Given the description of an element on the screen output the (x, y) to click on. 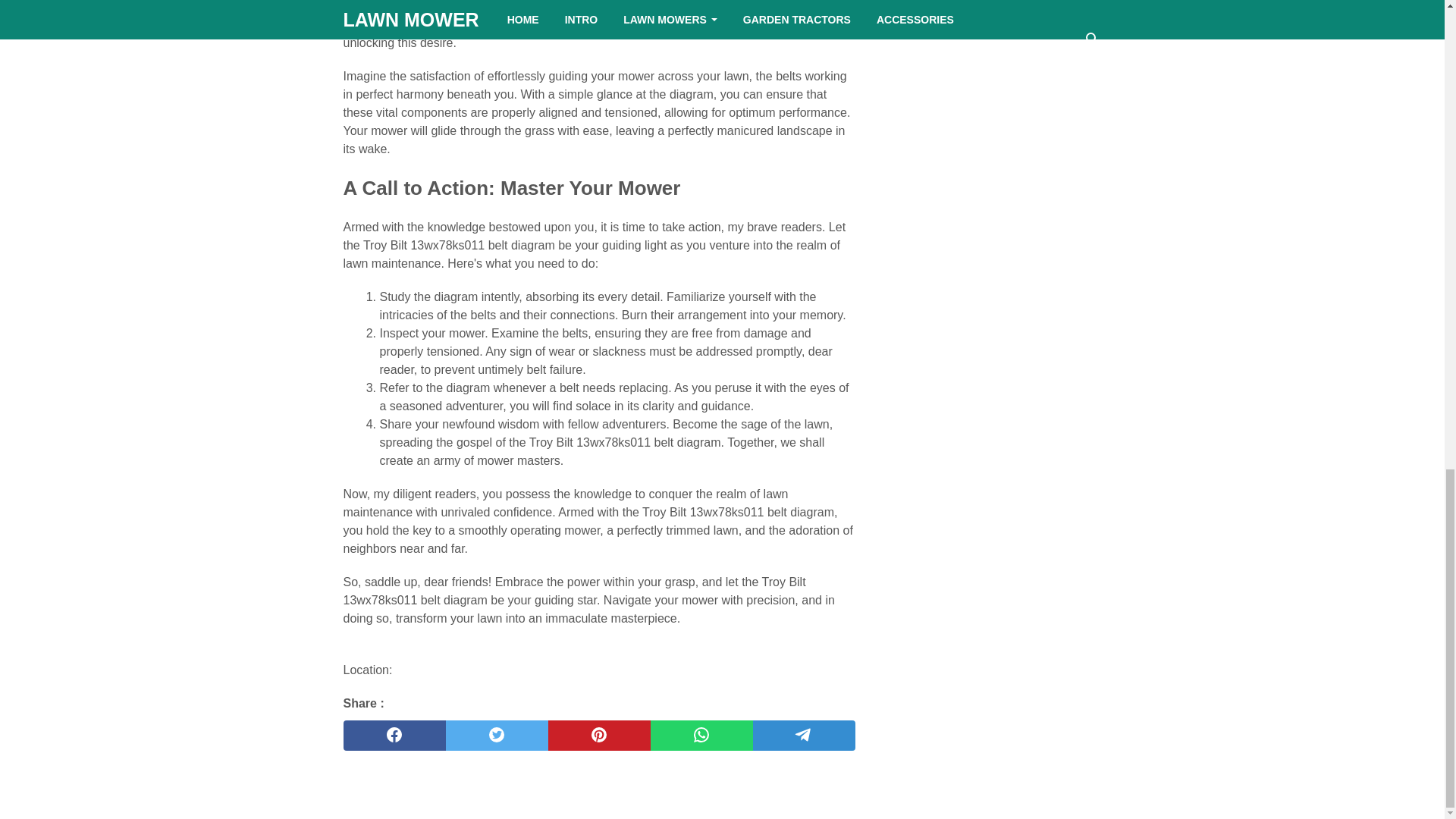
twitter (496, 735)
whatsapp (701, 735)
facebook (393, 735)
telegram (803, 735)
pinterest (598, 735)
